Given the description of an element on the screen output the (x, y) to click on. 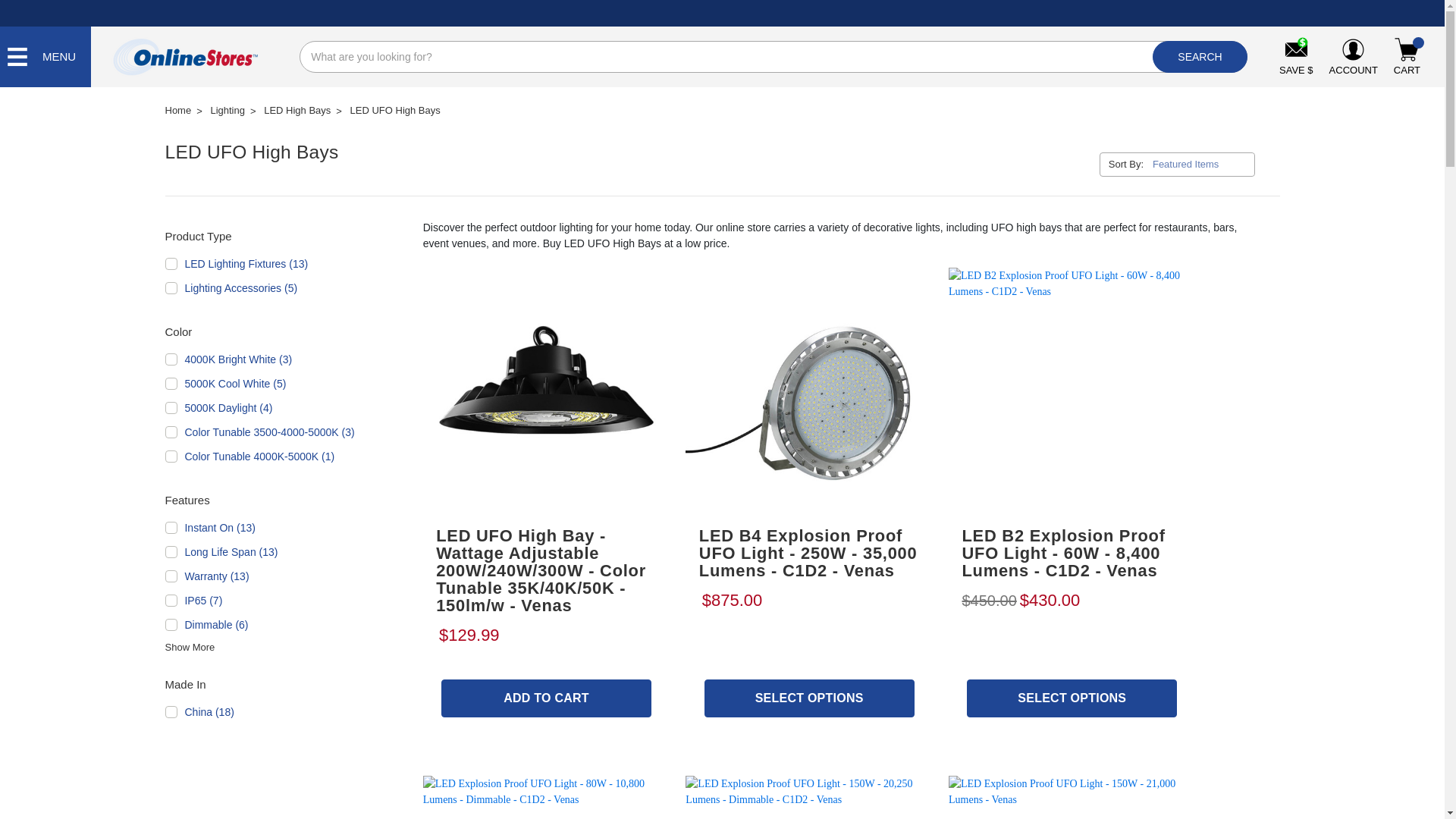
Search (1200, 56)
Add to Cart (545, 698)
LED Explosion Proof UFO Light - 150W - 21,000 Lumens - Venas (1072, 797)
Search (1200, 56)
